Given the description of an element on the screen output the (x, y) to click on. 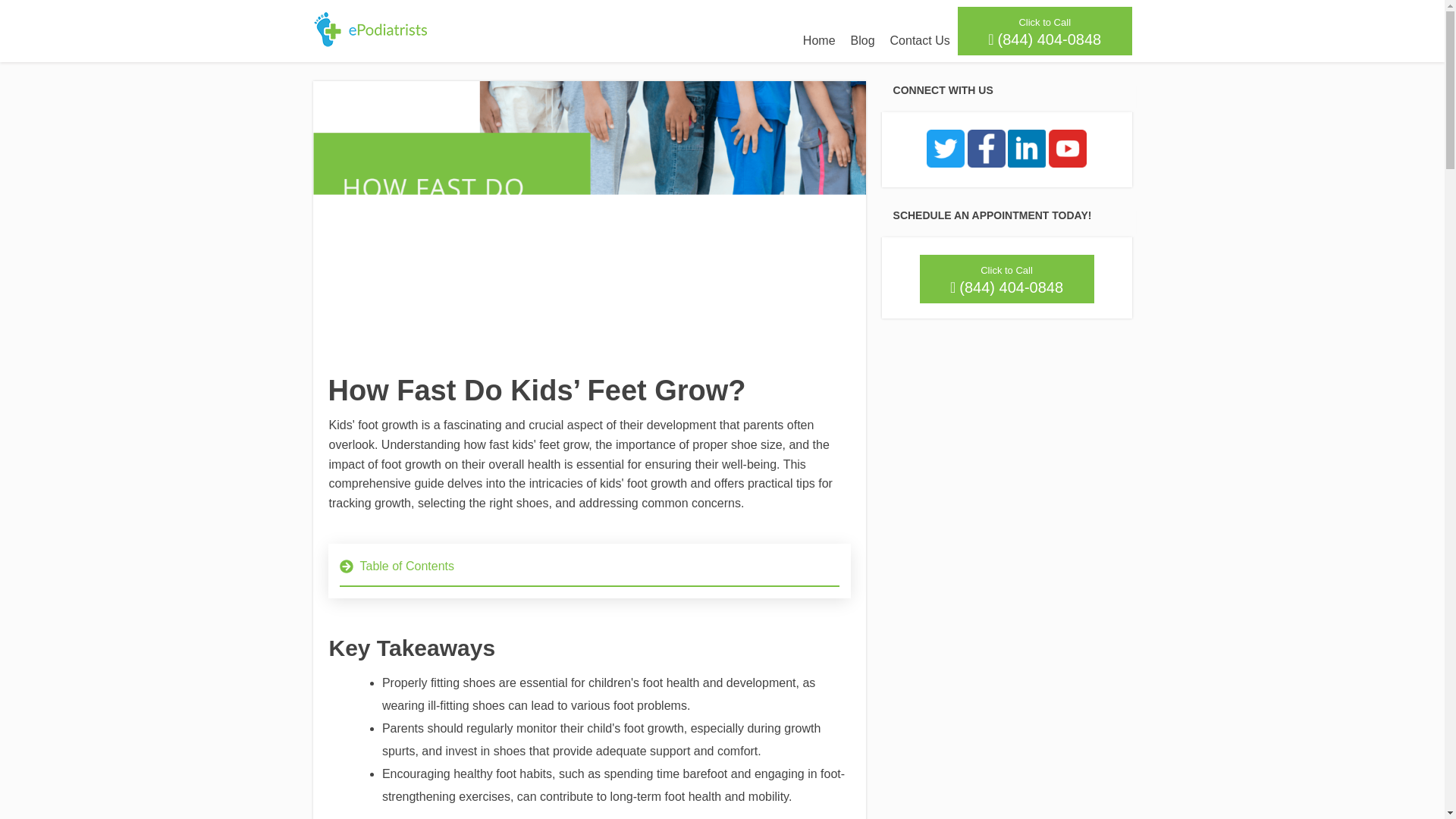
Blog (862, 40)
Home (818, 40)
Contact Us (920, 40)
Table of Contents (588, 570)
